Given the description of an element on the screen output the (x, y) to click on. 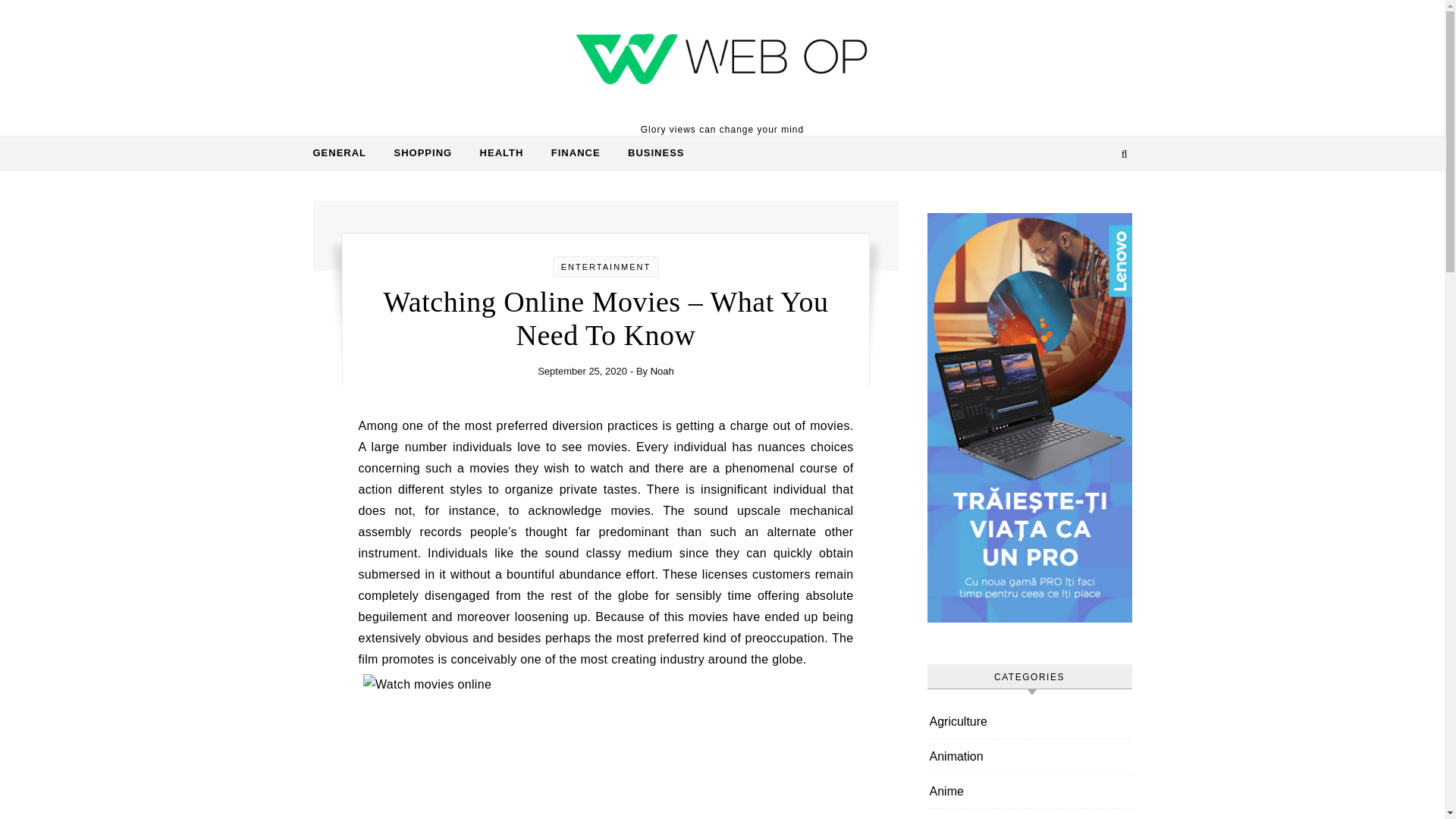
FINANCE (575, 152)
SHOPPING (422, 152)
Agriculture (958, 721)
Animation (957, 756)
Anime (946, 790)
Web Op (721, 61)
Posts by Noah (662, 370)
HEALTH (501, 152)
ENTERTAINMENT (605, 266)
GENERAL (345, 152)
